Given the description of an element on the screen output the (x, y) to click on. 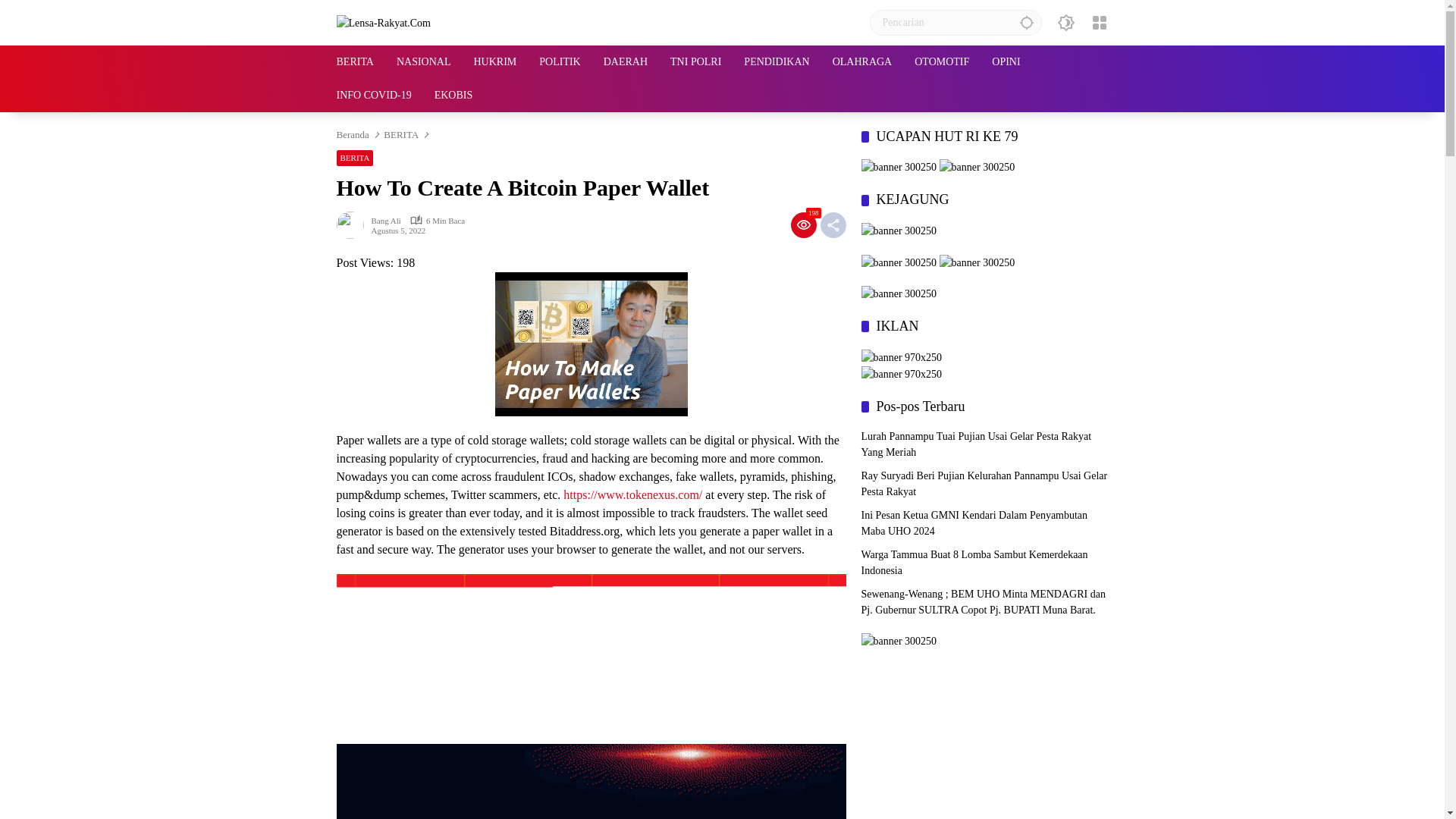
DAERAH (625, 61)
OTOMOTIF (941, 61)
Lensa-Rakyat.Com (383, 21)
BERITA (355, 61)
Lihat semua posts di BERITA (355, 157)
PENDIDIKAN (776, 61)
BERITA (400, 134)
BERITA (355, 157)
Bang Ali (386, 219)
Bang Ali (386, 219)
